Given the description of an element on the screen output the (x, y) to click on. 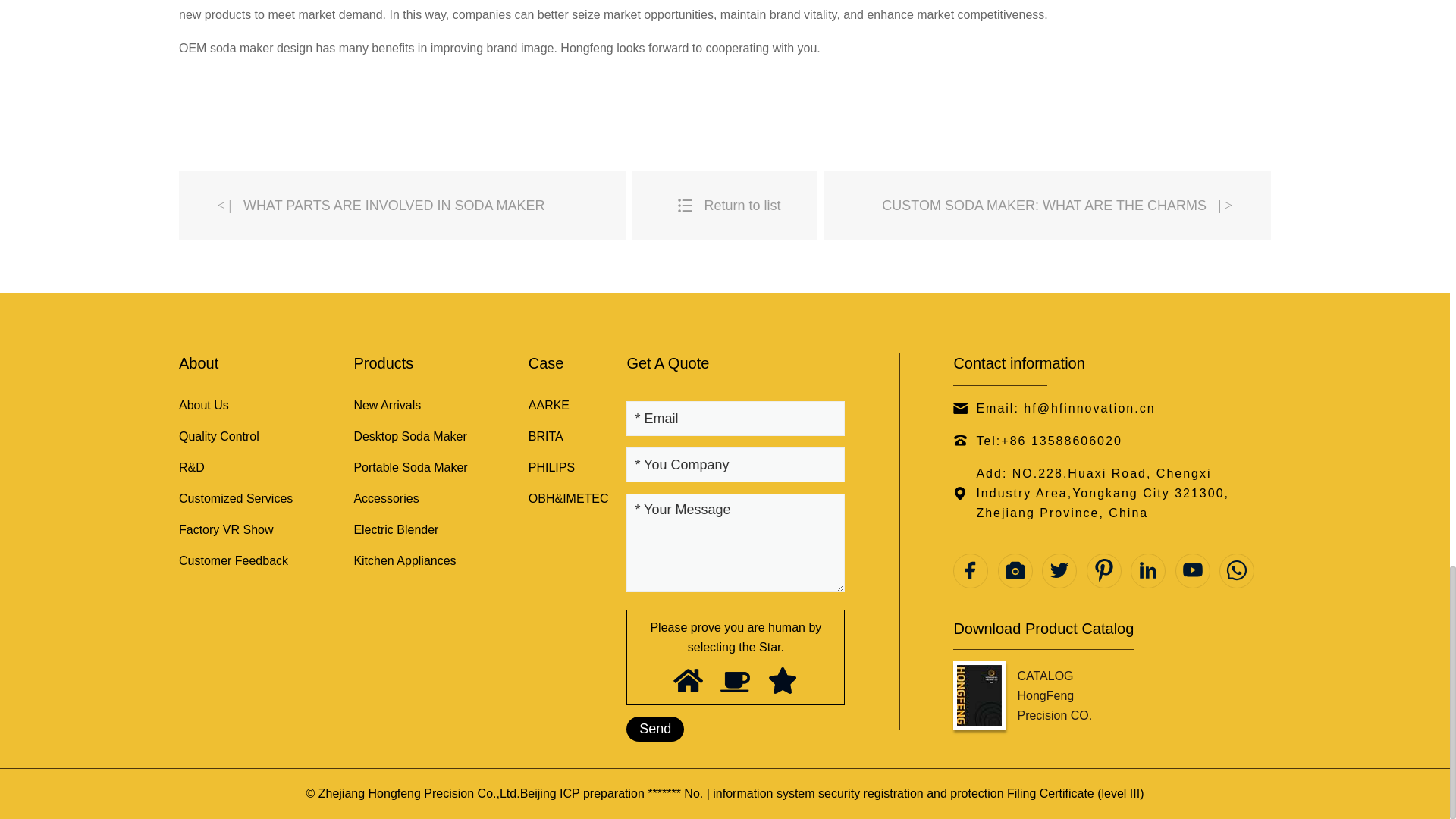
whatsapp (1236, 570)
Send (655, 729)
linkedin (1148, 570)
facebook (970, 570)
youtube (1191, 570)
twitter (1059, 570)
instagram (1014, 570)
pinterest (1103, 570)
